Given the description of an element on the screen output the (x, y) to click on. 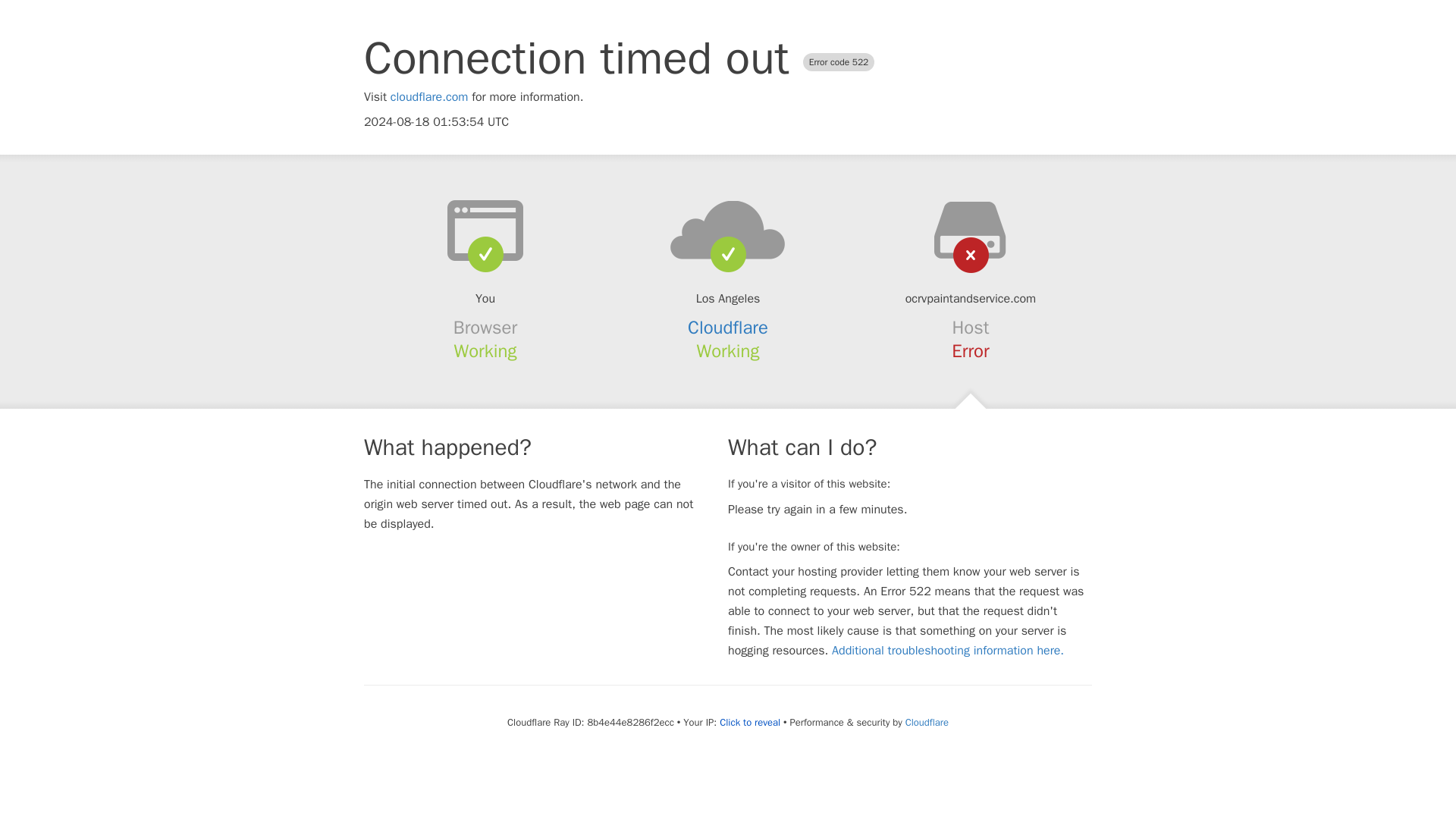
Cloudflare (927, 721)
Cloudflare (727, 327)
Additional troubleshooting information here. (947, 650)
cloudflare.com (429, 96)
Click to reveal (749, 722)
